Given the description of an element on the screen output the (x, y) to click on. 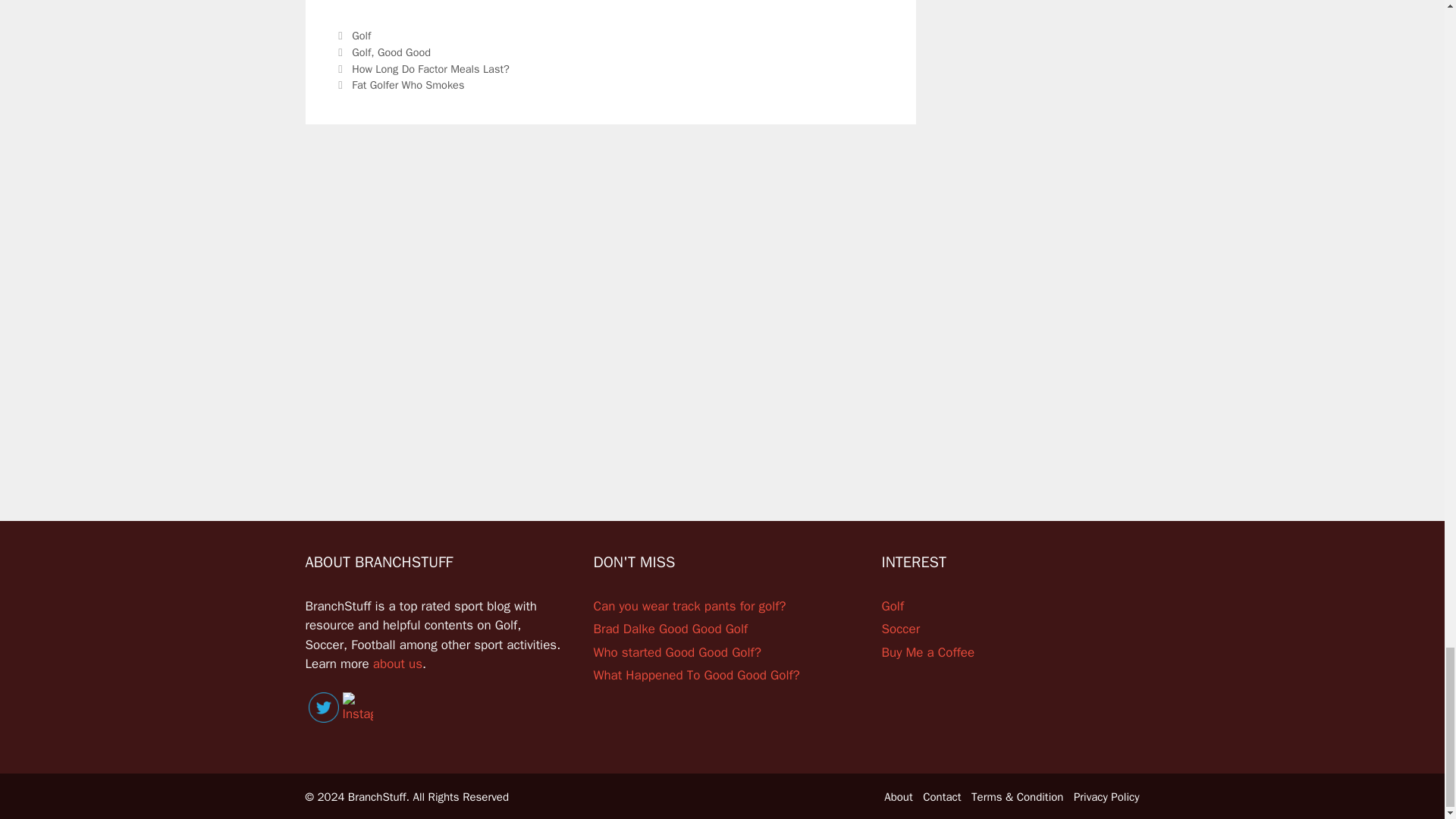
Can you wear track pants for golf? (689, 606)
Instagram (357, 707)
Golf (361, 51)
Golf (361, 35)
Brad Dalke Good Good Golf (670, 628)
Good Good (403, 51)
Fat Golfer Who Smokes  (409, 84)
Who started Good Good Golf? (676, 652)
What Happened To Good Good Golf? (695, 675)
How Long Do Factor Meals Last? (430, 69)
